Given the description of an element on the screen output the (x, y) to click on. 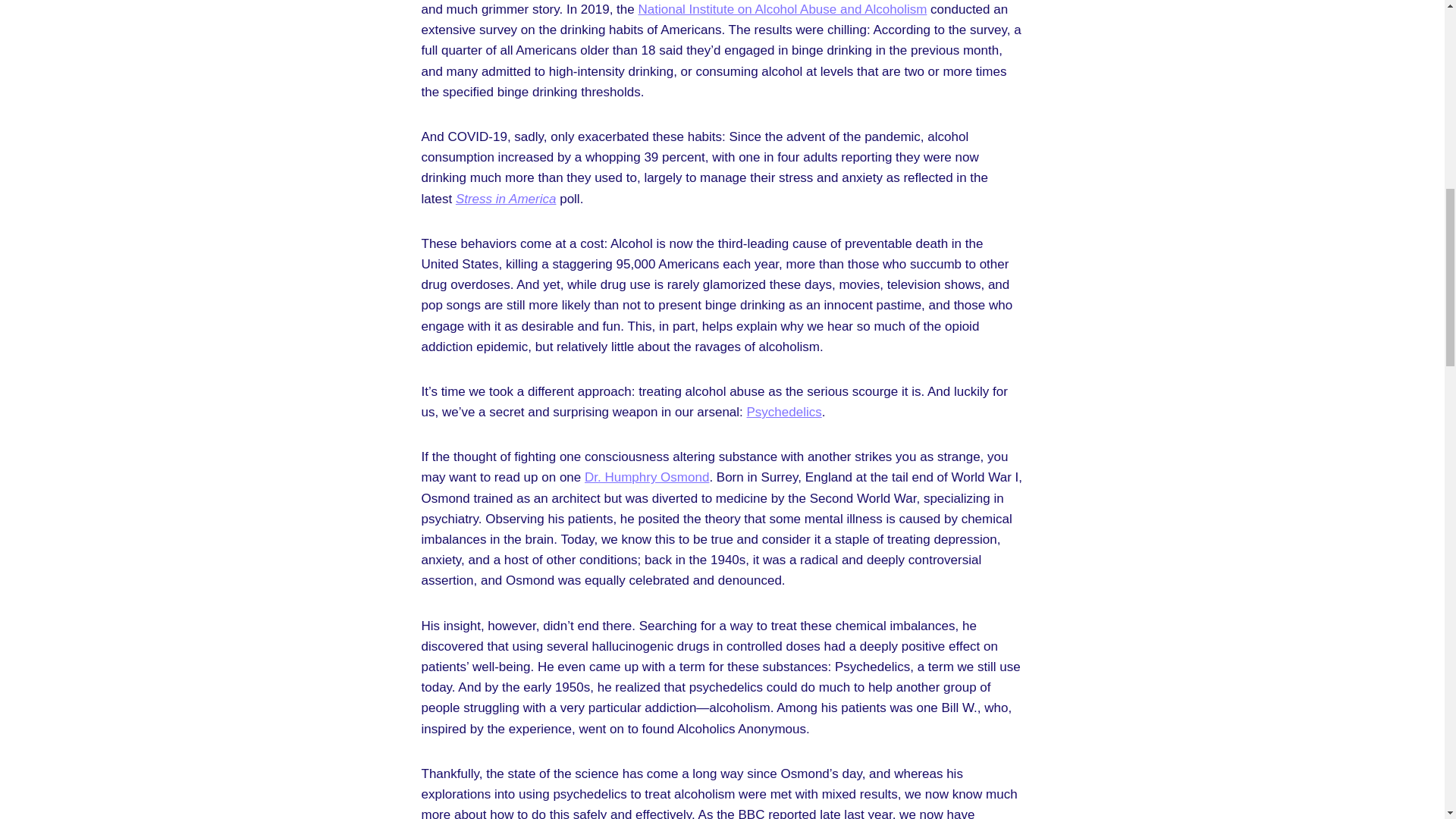
Psychedelics (784, 411)
Dr. Humphry Osmond (647, 477)
National Institute on Alcohol Abuse and Alcoholism (781, 9)
Stress in America (505, 198)
